Given the description of an element on the screen output the (x, y) to click on. 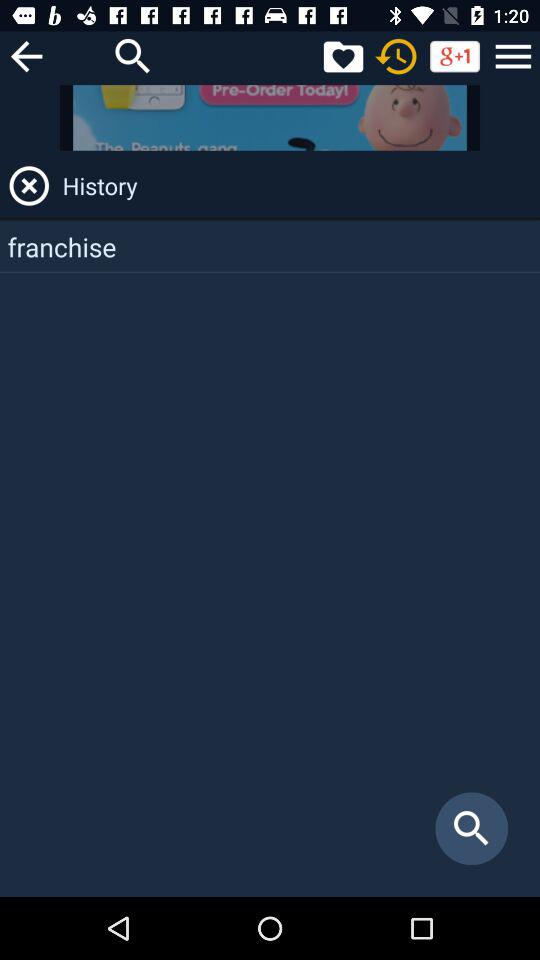
exit history (29, 185)
